Given the description of an element on the screen output the (x, y) to click on. 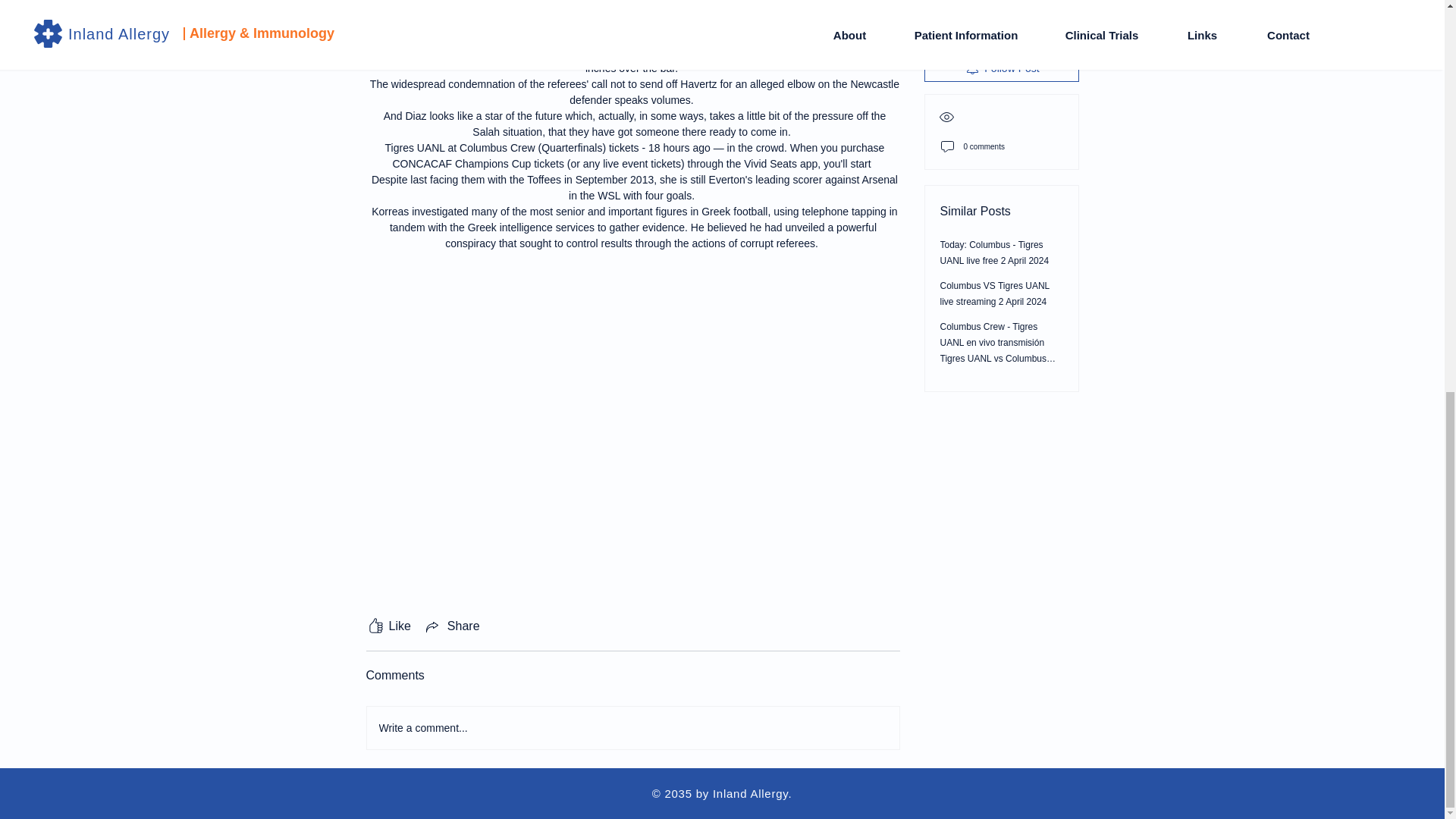
Share (451, 626)
ricos-video (632, 331)
Like (387, 626)
Write a comment... (632, 727)
